Given the description of an element on the screen output the (x, y) to click on. 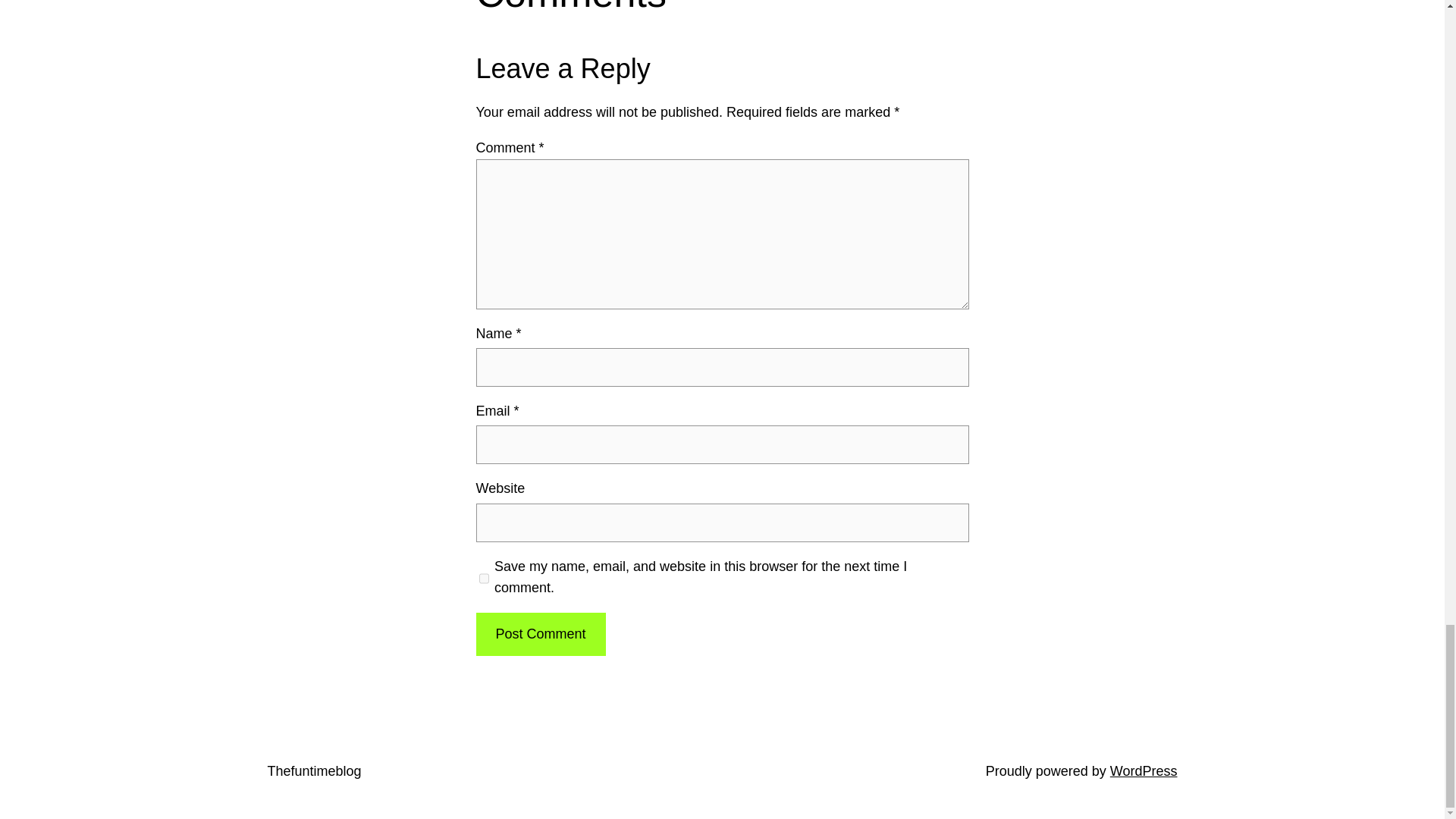
WordPress (1143, 770)
Post Comment (540, 634)
Thefuntimeblog (313, 770)
Post Comment (540, 634)
